Given the description of an element on the screen output the (x, y) to click on. 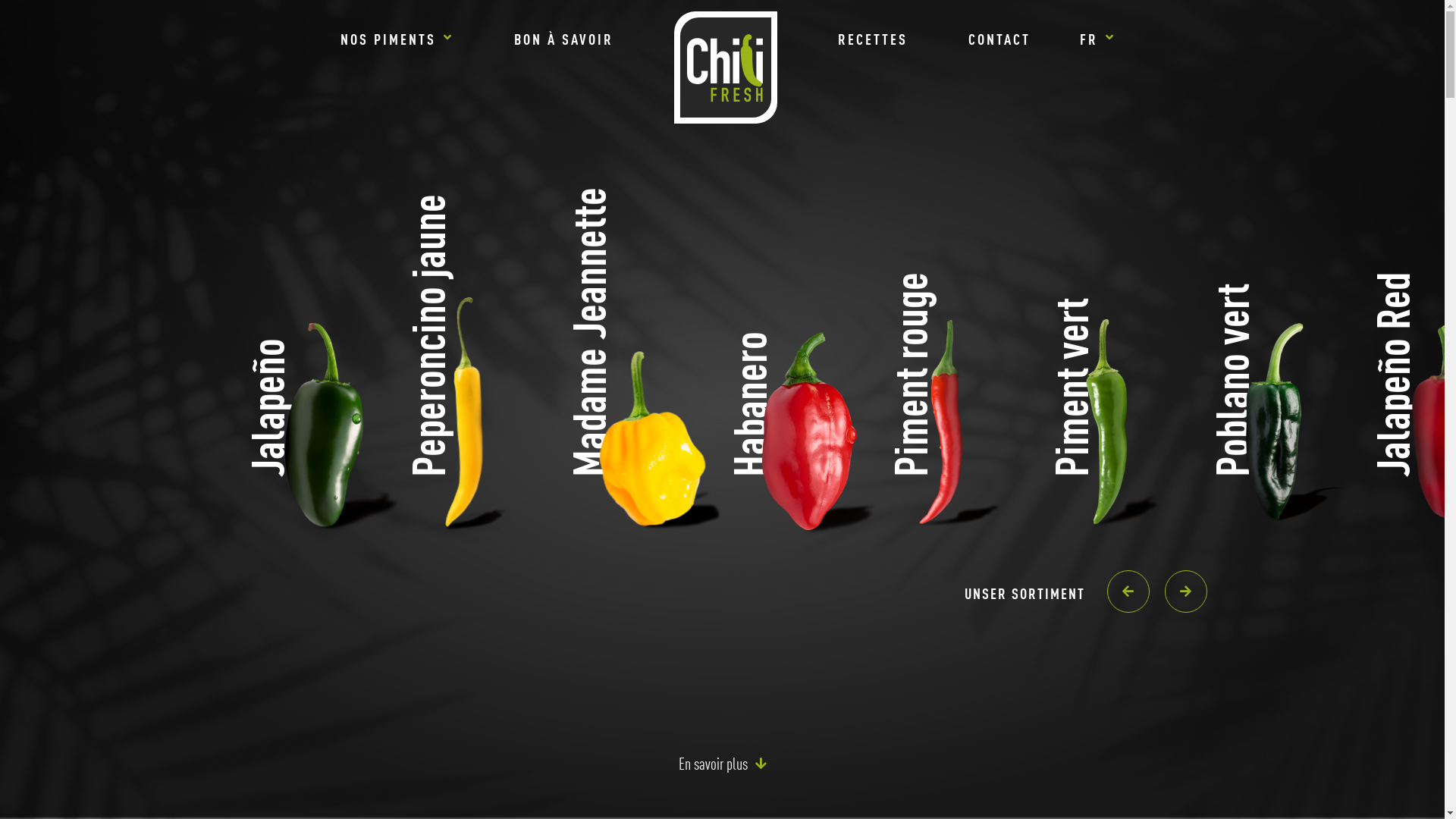
Piment vert Element type: text (1121, 432)
Poblano vert Element type: text (1282, 432)
Madame Jeannette Element type: text (639, 432)
Habanero Element type: text (800, 432)
CONTACT Element type: text (999, 38)
Piment rouge Element type: text (961, 432)
RECETTES Element type: text (872, 38)
Peperoncino jaune Element type: text (478, 432)
